Given the description of an element on the screen output the (x, y) to click on. 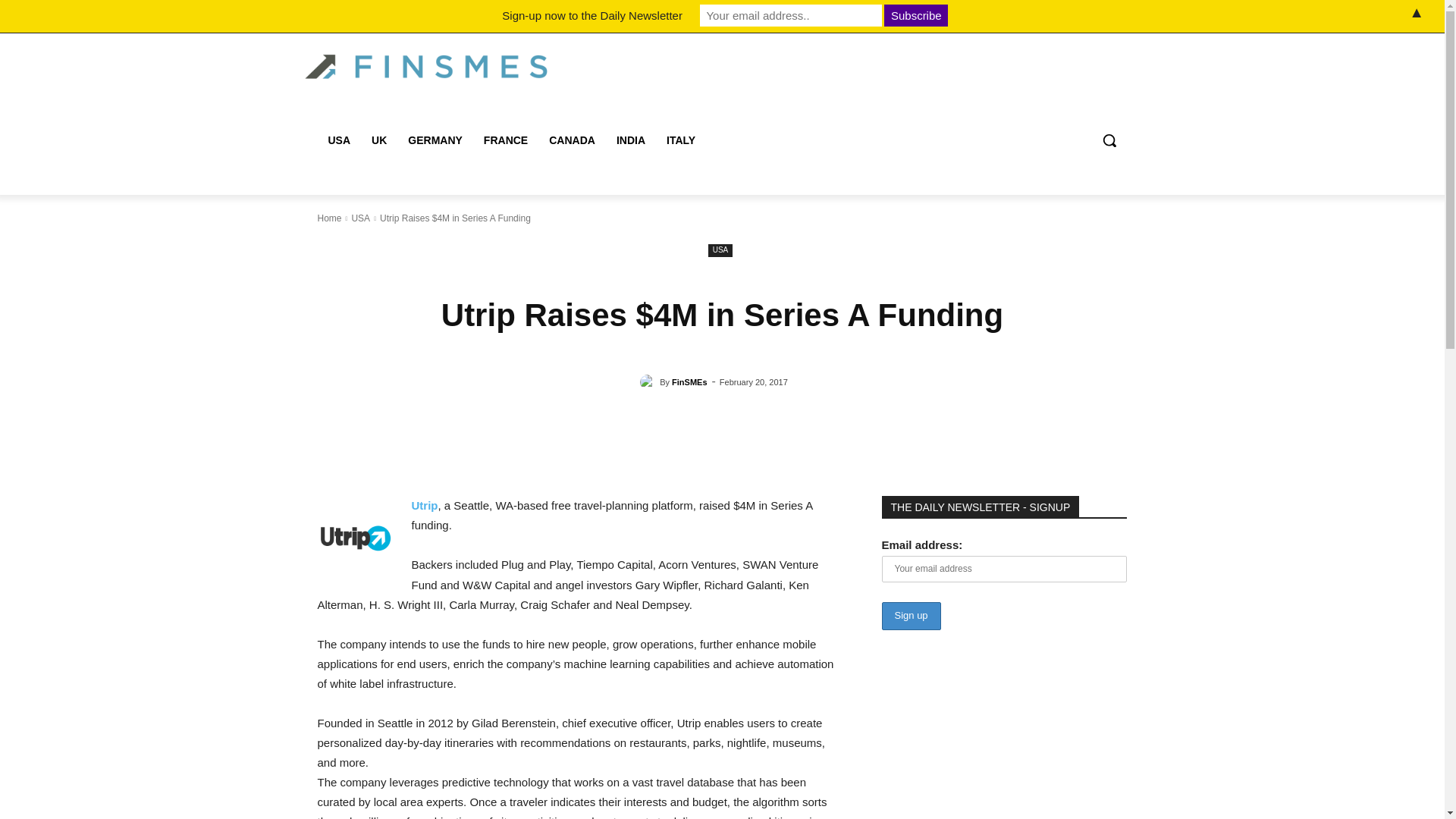
USA (720, 250)
FRANCE (505, 140)
ITALY (681, 140)
Utrip (424, 504)
INDIA (630, 140)
View all posts in USA (359, 217)
USA (359, 217)
FinSMEs (688, 382)
CANADA (571, 140)
UK (379, 140)
